Given the description of an element on the screen output the (x, y) to click on. 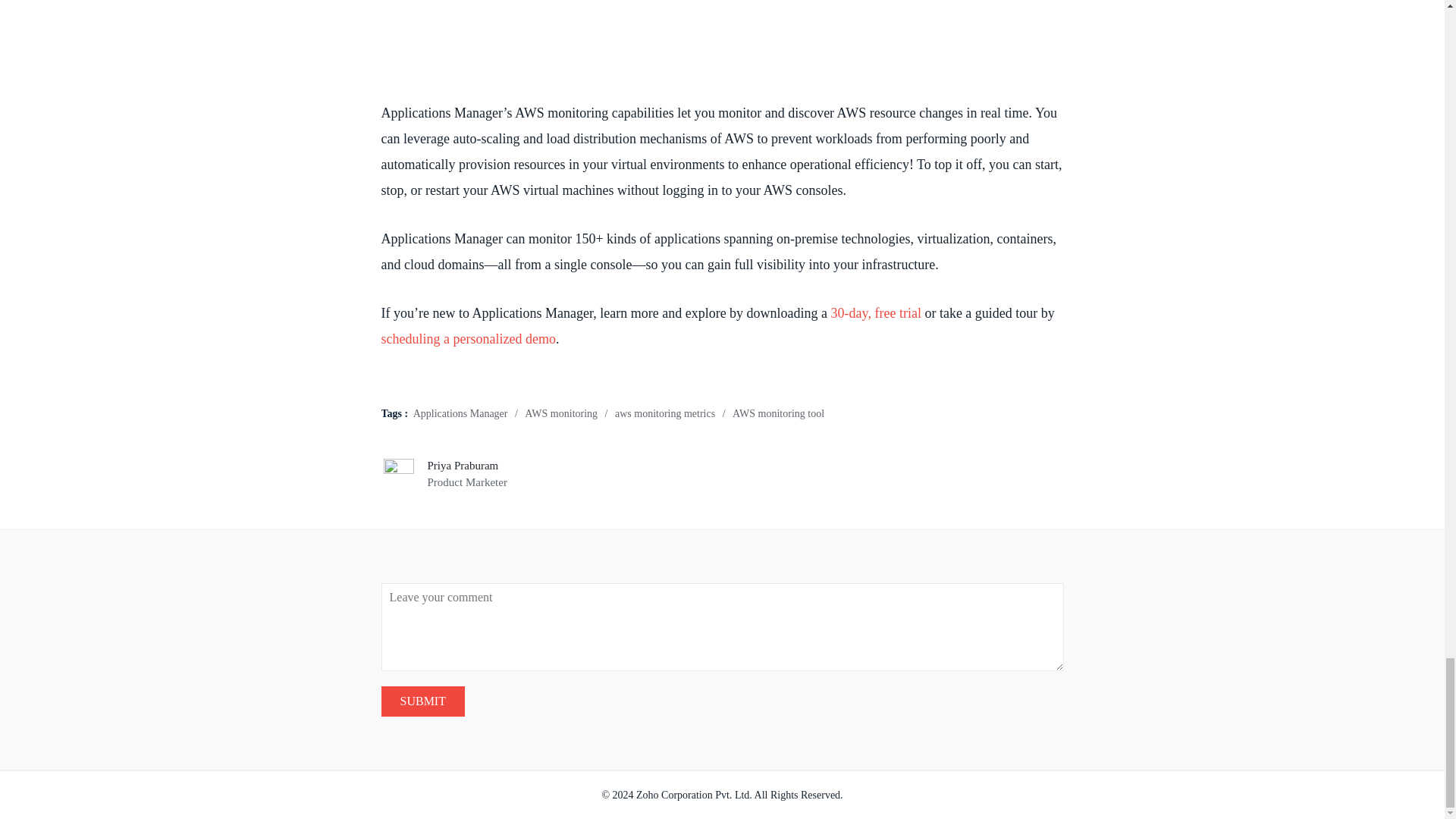
aws monitoring metrics (664, 413)
AWS Performance Monitor - Latency (721, 38)
scheduling a personalized demo (467, 338)
AWS monitoring tool (778, 413)
Priya Praburam (463, 465)
AWS monitoring (560, 413)
30-day, free trial (876, 313)
Applications Manager (460, 413)
Submit (422, 701)
Submit (422, 701)
